Given the description of an element on the screen output the (x, y) to click on. 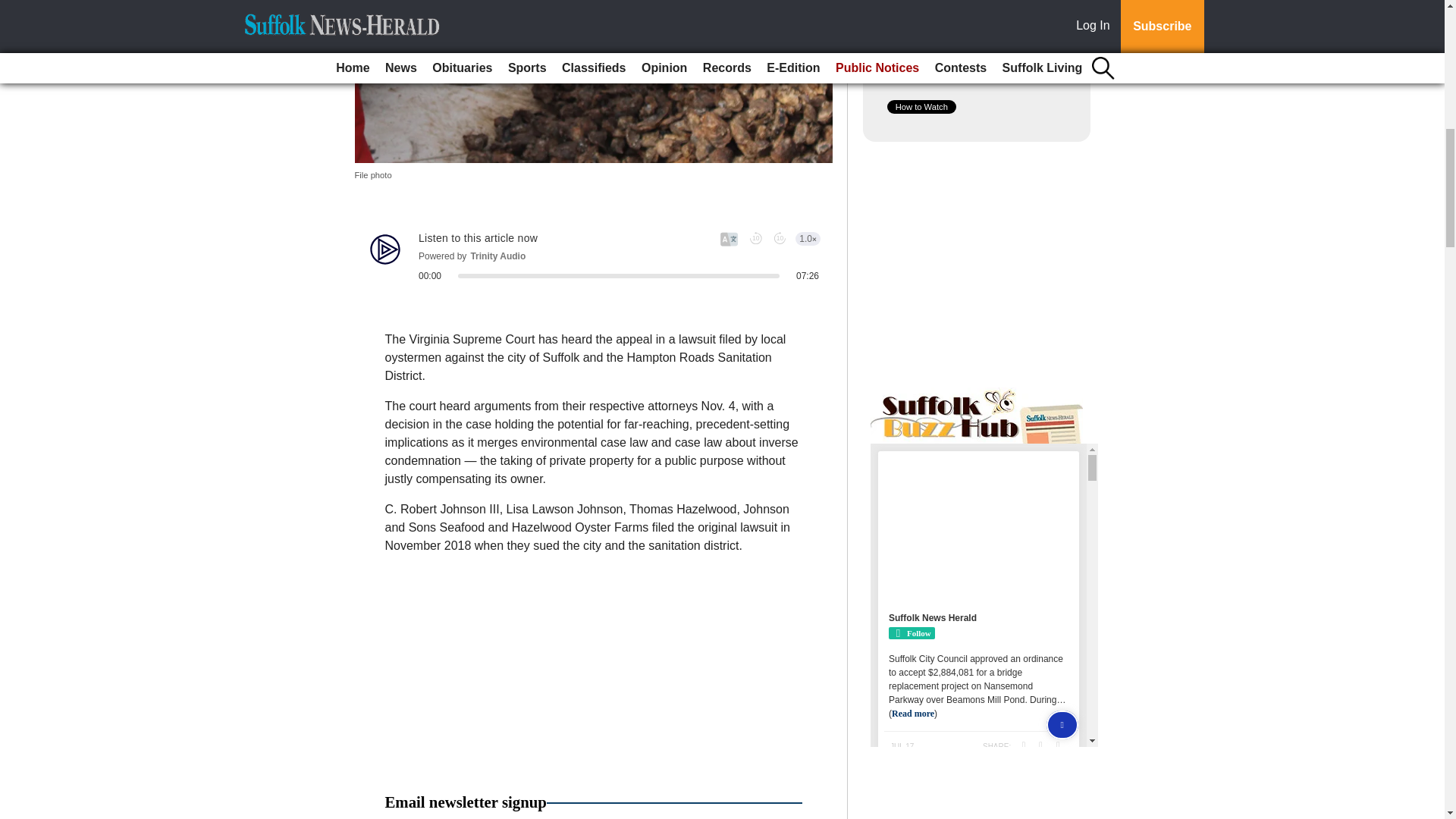
How to Watch (921, 106)
Trinity Audio Player (592, 256)
